Given the description of an element on the screen output the (x, y) to click on. 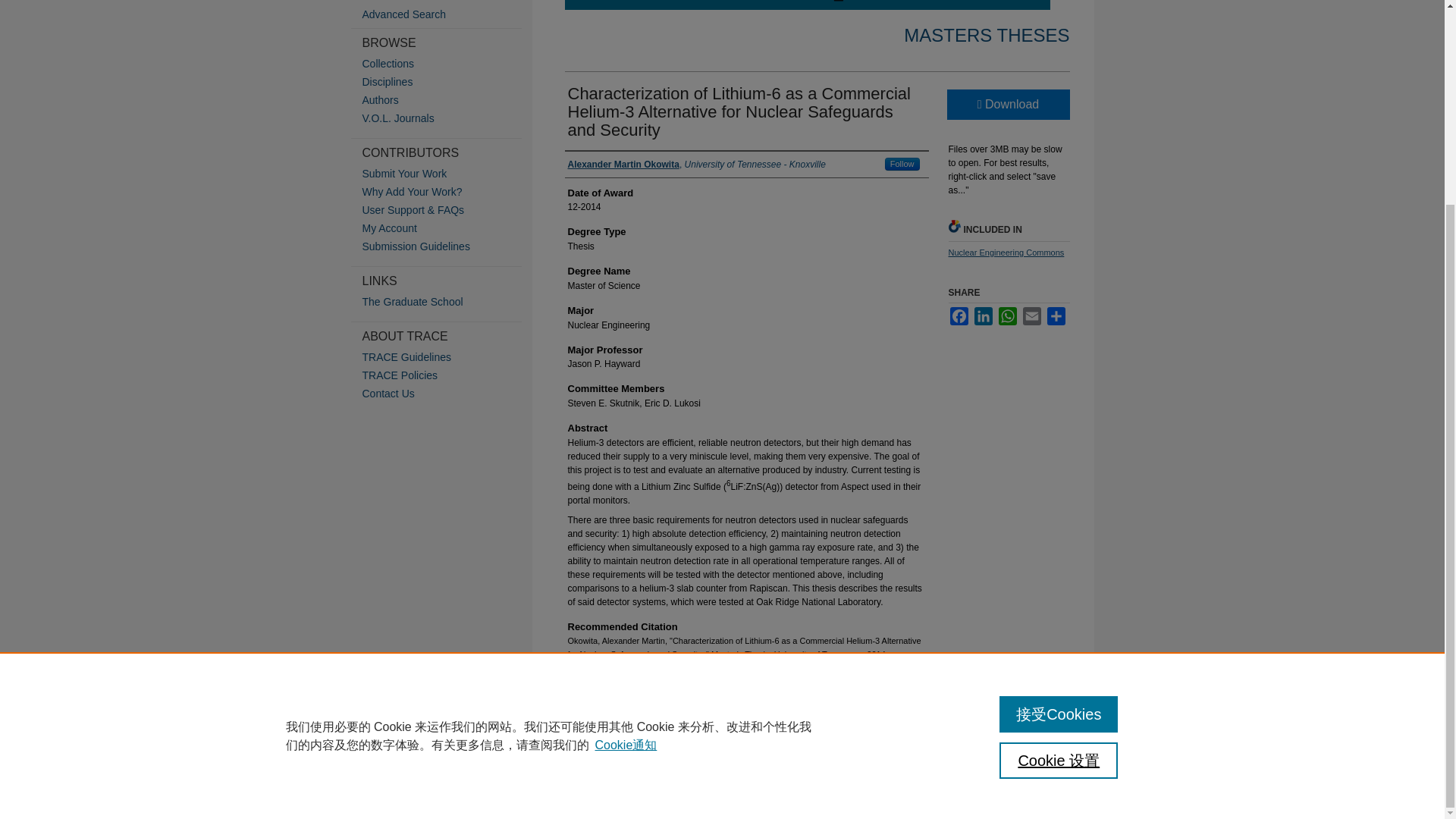
Follow (902, 164)
Browse by Collections (447, 63)
Collections (447, 63)
Email (1031, 316)
Browse V.O.L. Journal (447, 118)
Browse by Disciplines (447, 81)
Disciplines (447, 81)
WhatsApp (1006, 316)
Browse by Author (447, 100)
Nuclear Engineering Commons (1005, 252)
Follow Alexander Martin Okowita (902, 164)
Nuclear Engineering Commons (1005, 252)
V.O.L. Journals (447, 118)
MASTERS THESES (986, 35)
Authors (447, 100)
